Given the description of an element on the screen output the (x, y) to click on. 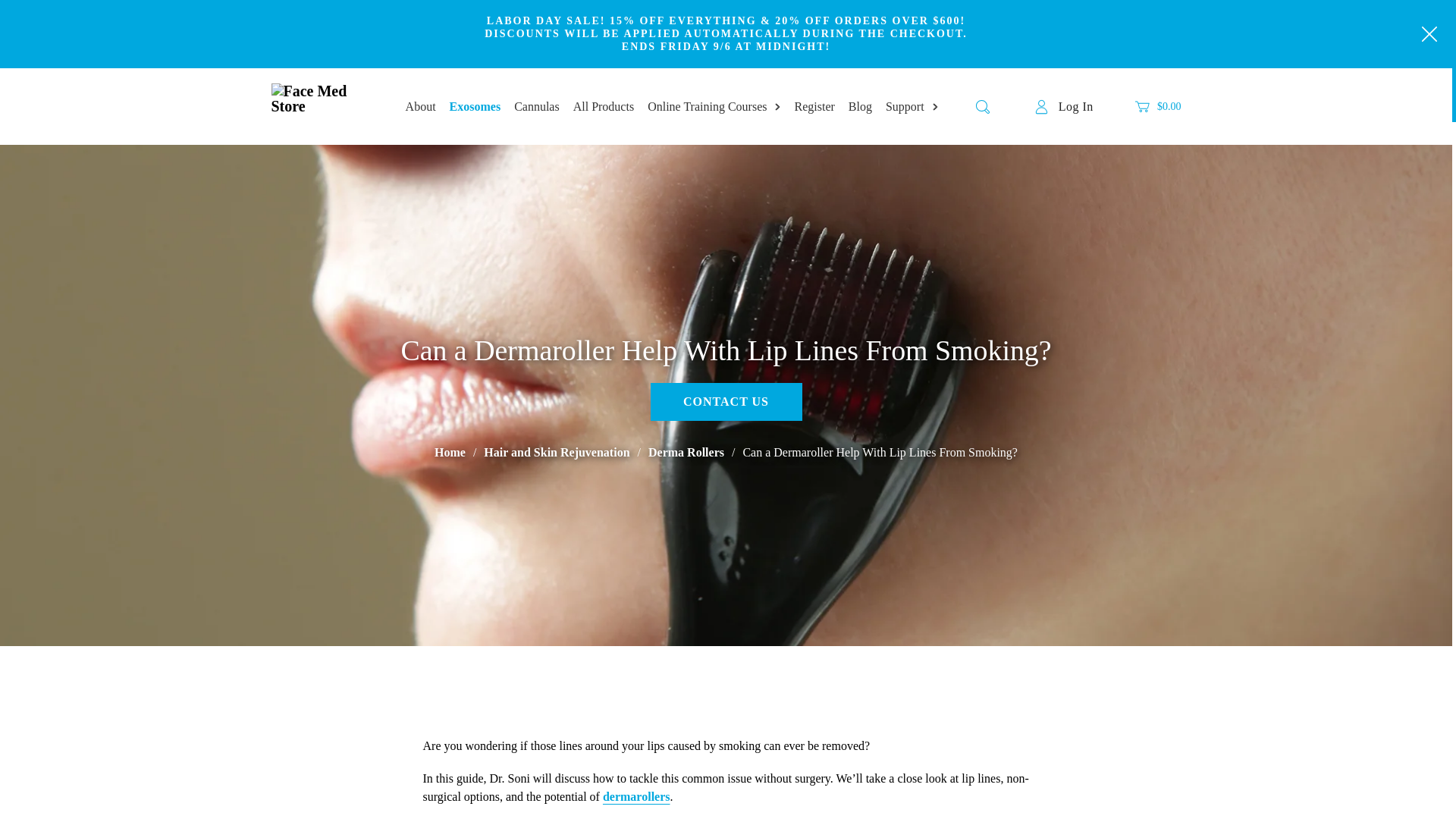
Blog (860, 106)
Online Training Courses (707, 106)
Cannulas (536, 106)
Register (813, 106)
About (420, 106)
All Products (603, 106)
Support (904, 106)
Exosomes (474, 106)
